Given the description of an element on the screen output the (x, y) to click on. 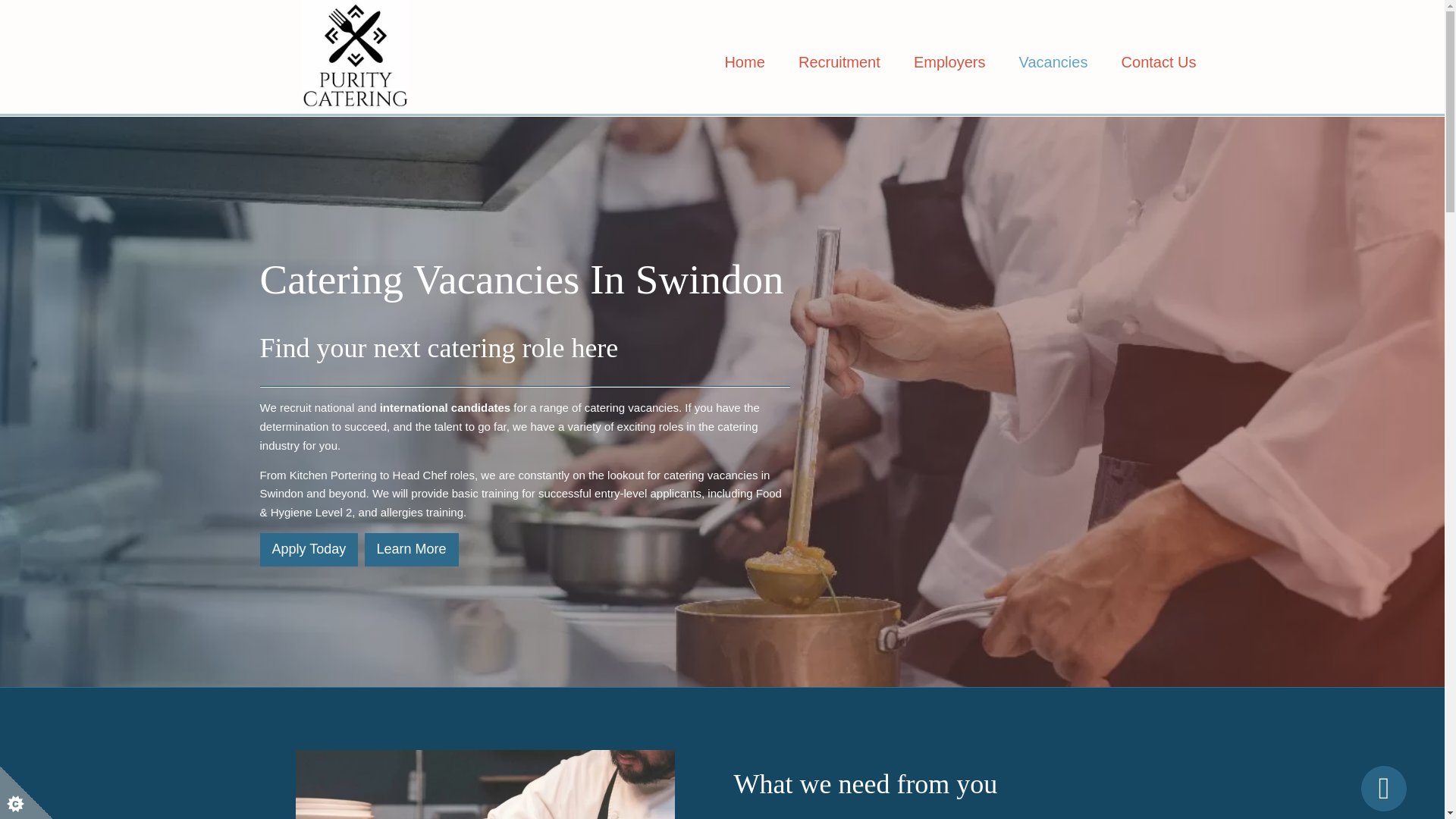
Vacancies (1053, 60)
Cookie Control (26, 792)
Learn More (411, 549)
Recruitment (839, 60)
Employers (949, 60)
Contact Us (1158, 60)
Home (743, 60)
Apply Today (308, 549)
